Given the description of an element on the screen output the (x, y) to click on. 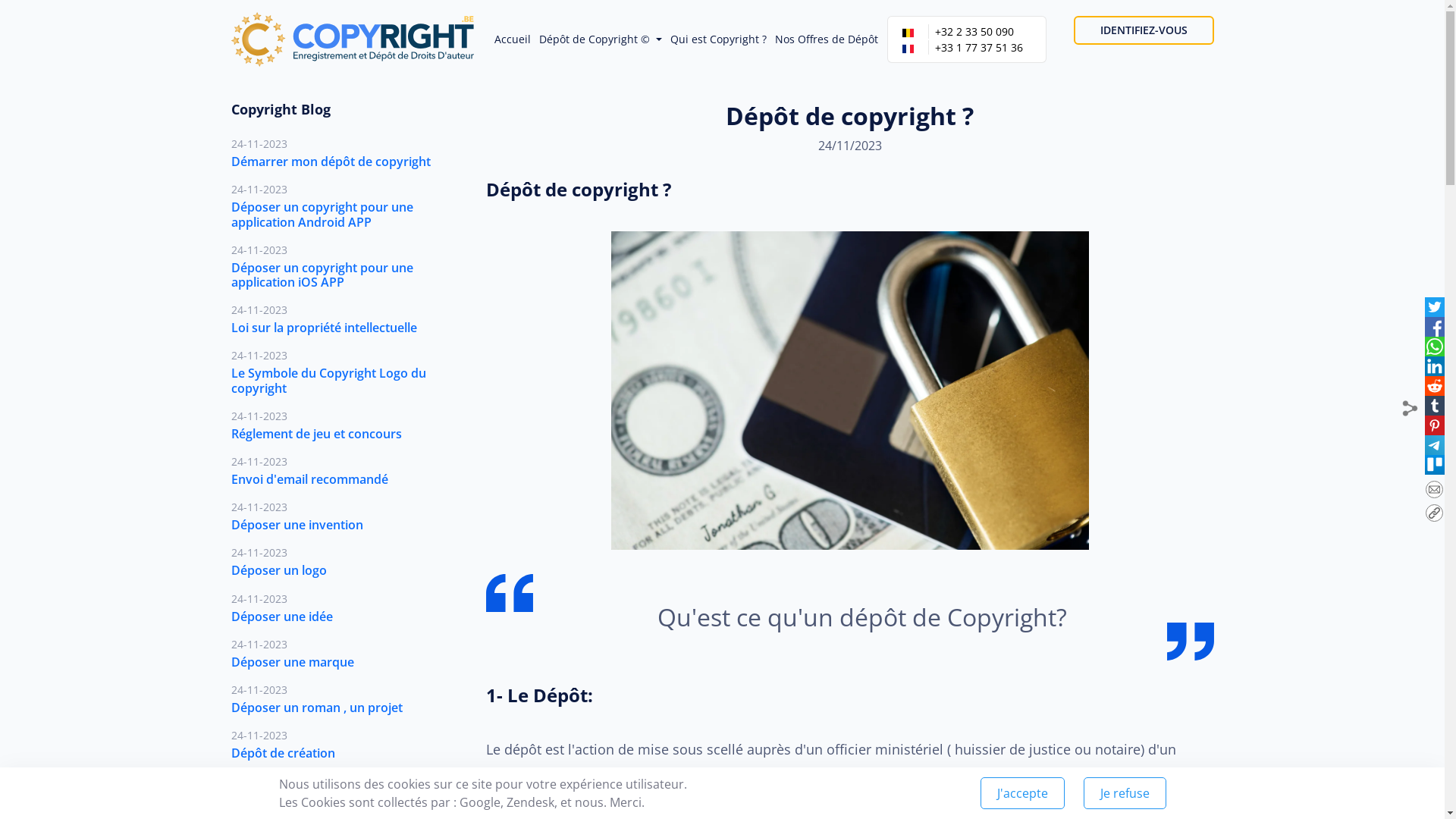
Je refuse Element type: text (1123, 793)
Accueil Element type: text (512, 38)
Qui est Copyright ? Element type: text (718, 38)
Le Symbole du Copyright Logo du copyright Element type: text (327, 379)
IDENTIFIEZ-VOUS Element type: text (1143, 29)
J'accepte Element type: text (1021, 793)
